Given the description of an element on the screen output the (x, y) to click on. 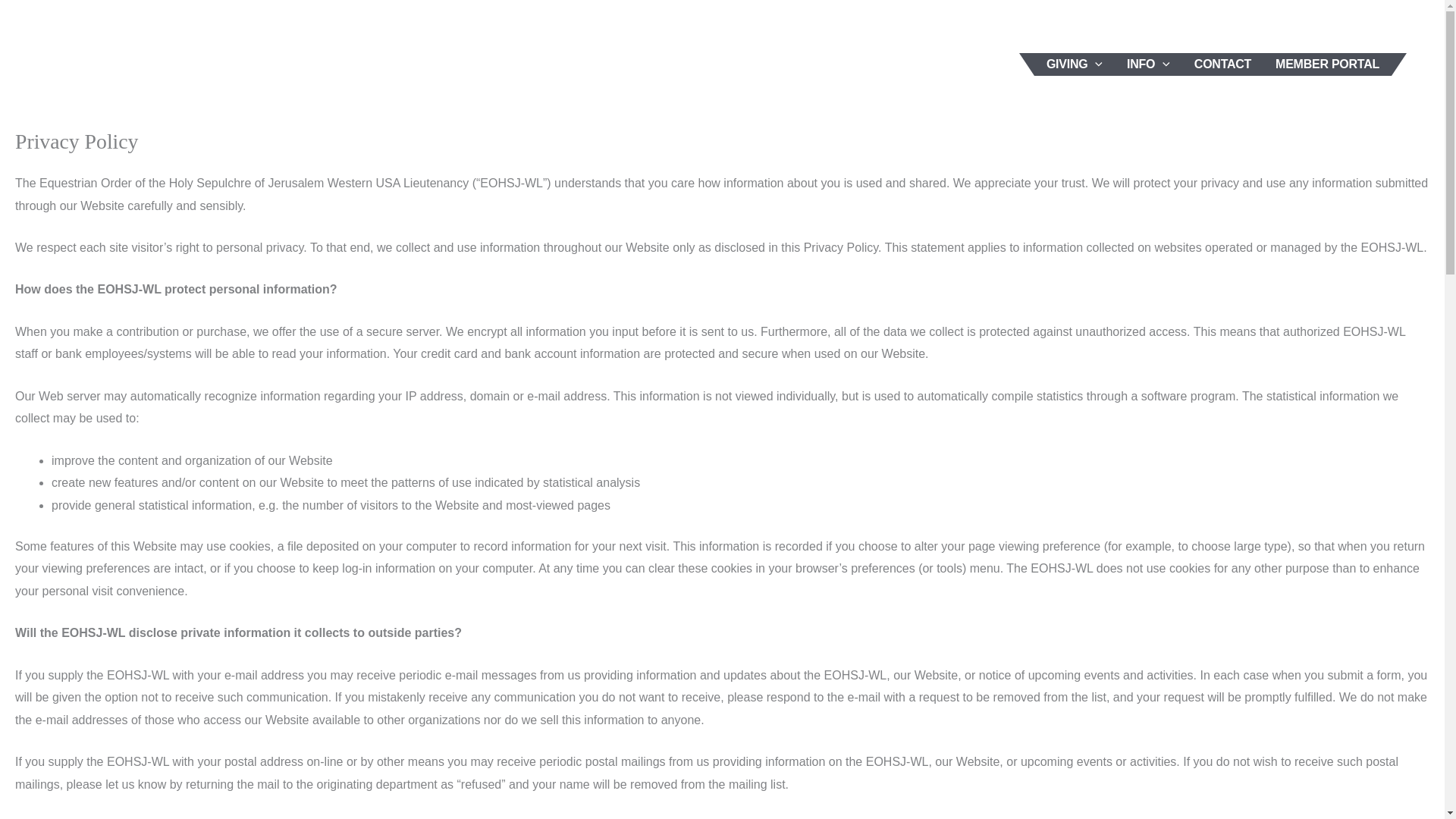
THE ORDER (643, 26)
SPIRITUALITY (979, 26)
WESTERN USA LIEUTENANCY (807, 26)
